Given the description of an element on the screen output the (x, y) to click on. 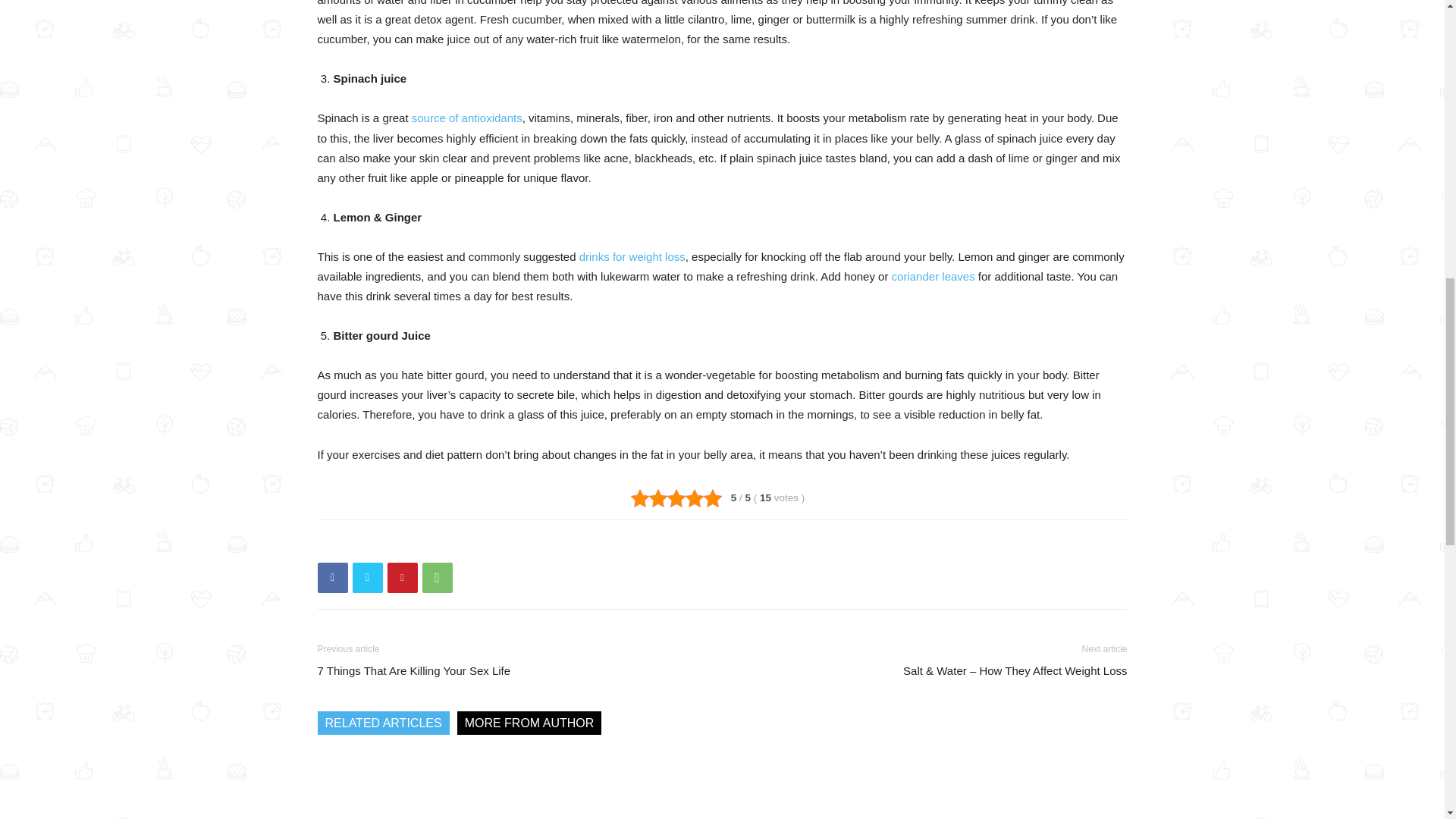
10 Daily Habits To Fight Hunger (721, 786)
Facebook (332, 577)
10 Foods That Fight Belly Fat (391, 786)
Top 10 Health Benefits of Quinoa (555, 786)
bottomFacebookLike (430, 544)
WhatsApp (436, 577)
Pinterest (401, 577)
Twitter (366, 577)
